Given the description of an element on the screen output the (x, y) to click on. 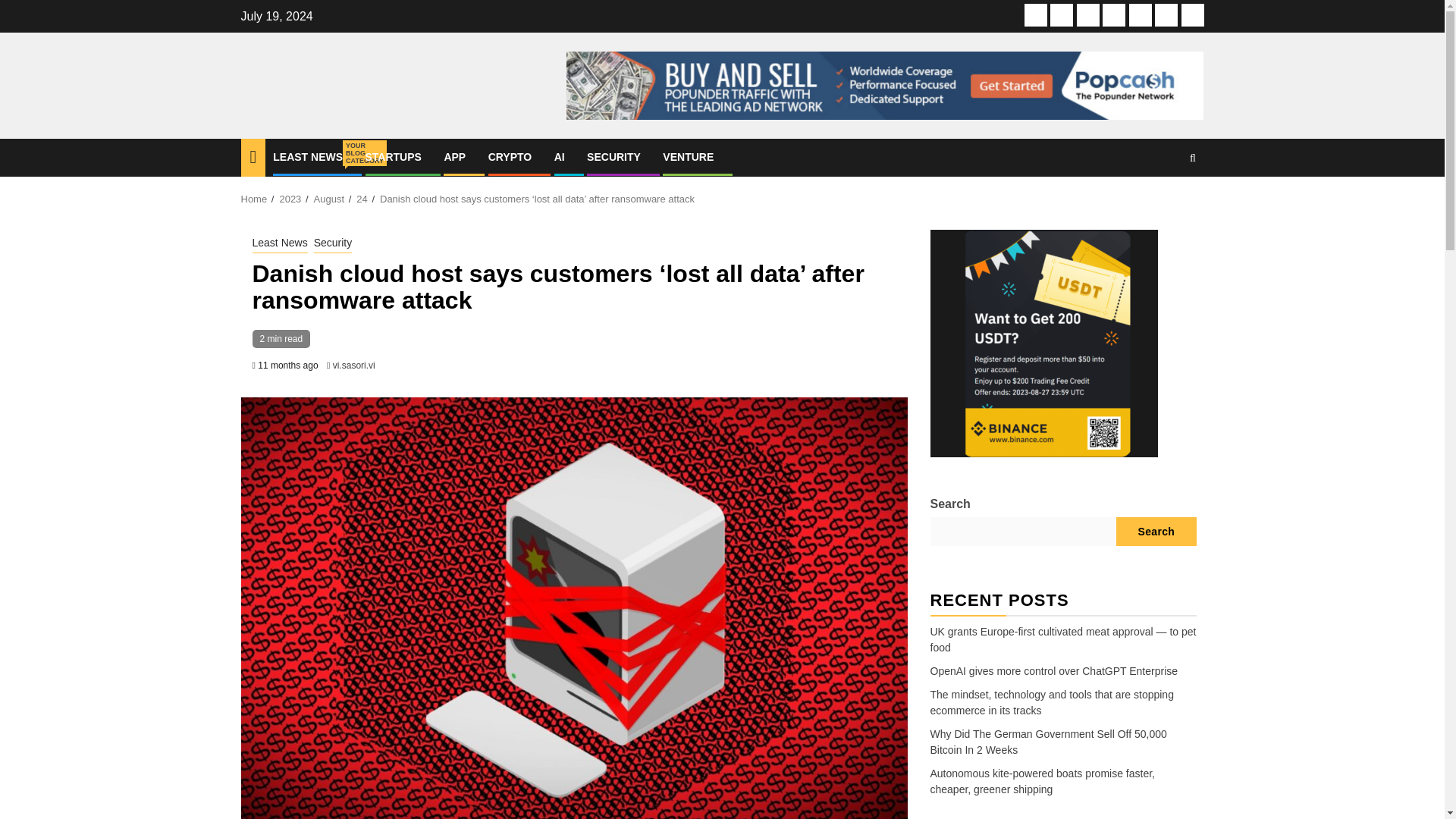
Search (1163, 203)
August (328, 198)
CRYPTO (509, 156)
Venture (1192, 15)
App (1088, 15)
Search (1192, 157)
crypto (1113, 15)
Least News (307, 156)
VENTURE (1035, 15)
SECURITY (687, 156)
Least News (613, 156)
24 (279, 244)
AI (361, 198)
Security (559, 156)
